Given the description of an element on the screen output the (x, y) to click on. 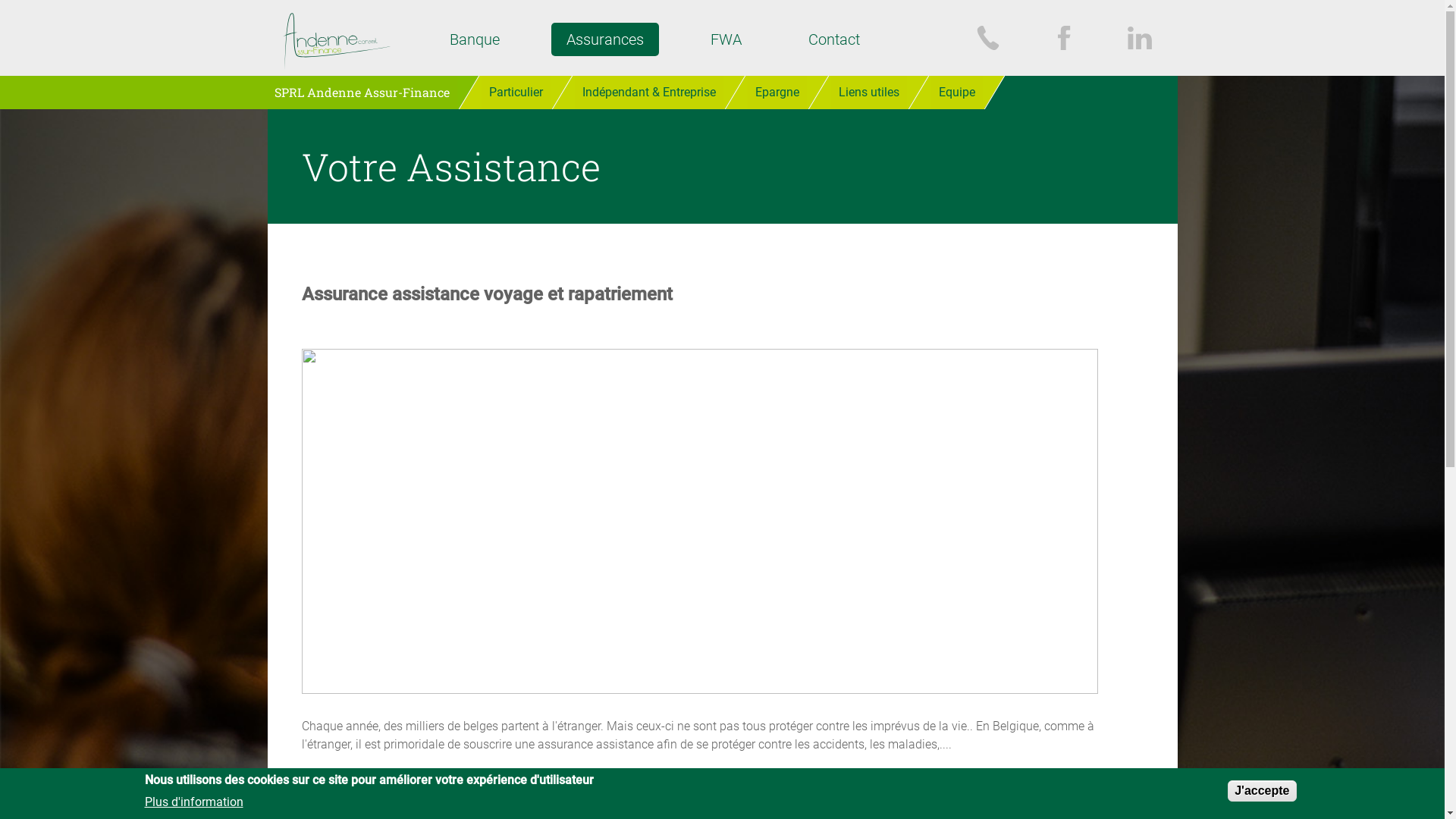
J'accepte Element type: text (1261, 790)
Jump to navigation Element type: text (722, 2)
Liens utiles Element type: text (868, 92)
Facebook Element type: text (1063, 37)
Plus d'information Element type: text (193, 800)
Contact Element type: text (834, 39)
SPRL Andenne Assur-Finance Element type: text (361, 92)
LinkedIn Element type: text (1138, 37)
Accueil Element type: hover (338, 40)
Equipe Element type: text (956, 92)
FWA Element type: text (725, 39)
Banque Element type: text (473, 39)
Assurances Element type: text (604, 39)
Particulier Element type: text (514, 92)
Epargne Element type: text (776, 92)
